Given the description of an element on the screen output the (x, y) to click on. 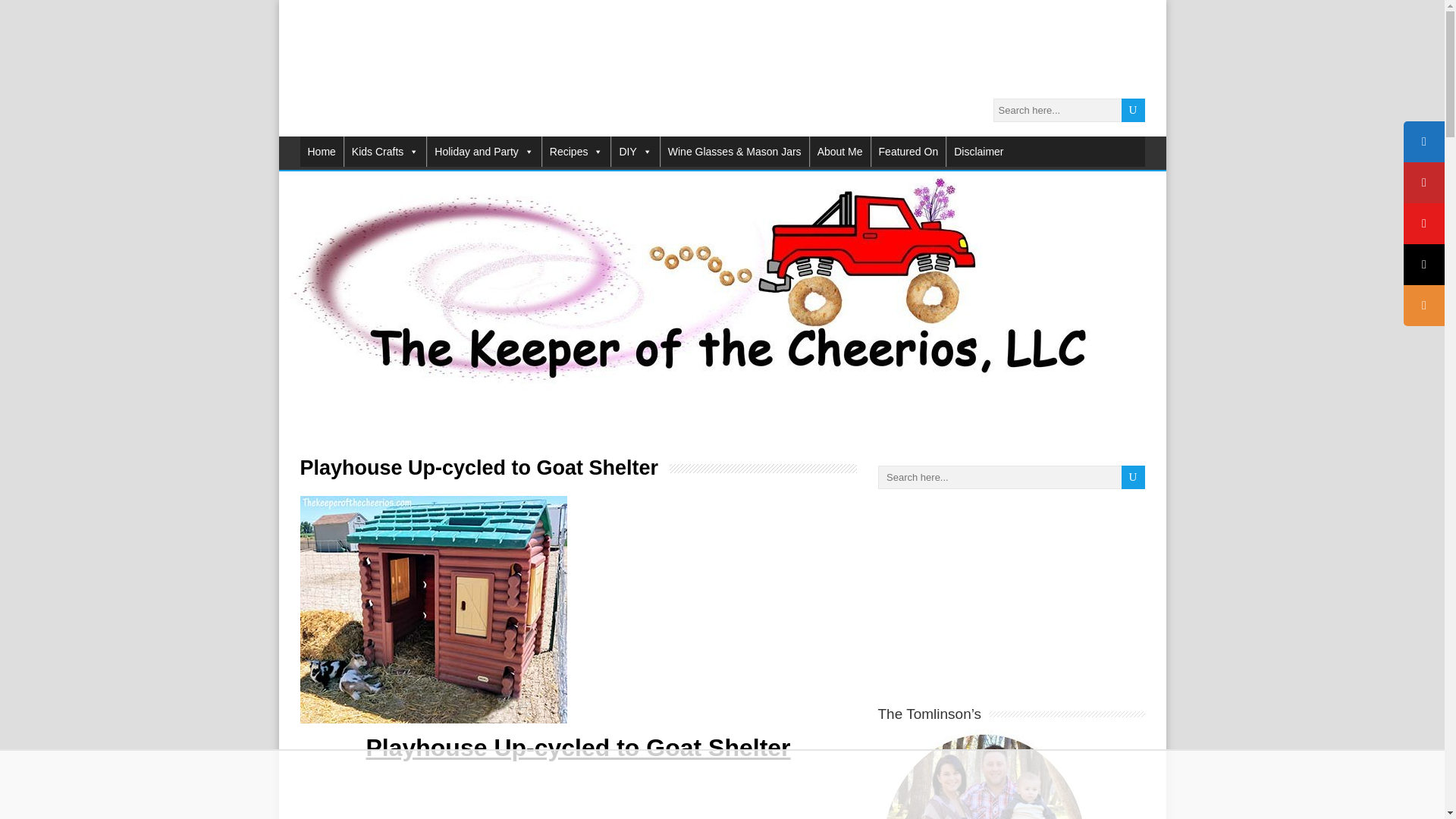
Home (321, 151)
Kids Crafts (384, 151)
Holiday and Party (483, 151)
U (1132, 110)
DIY (635, 151)
Recipes (576, 151)
U (1132, 110)
U (1132, 477)
U (1132, 477)
Disclaimer (978, 151)
Featured On (908, 151)
About Me (839, 151)
U (1132, 110)
